Given the description of an element on the screen output the (x, y) to click on. 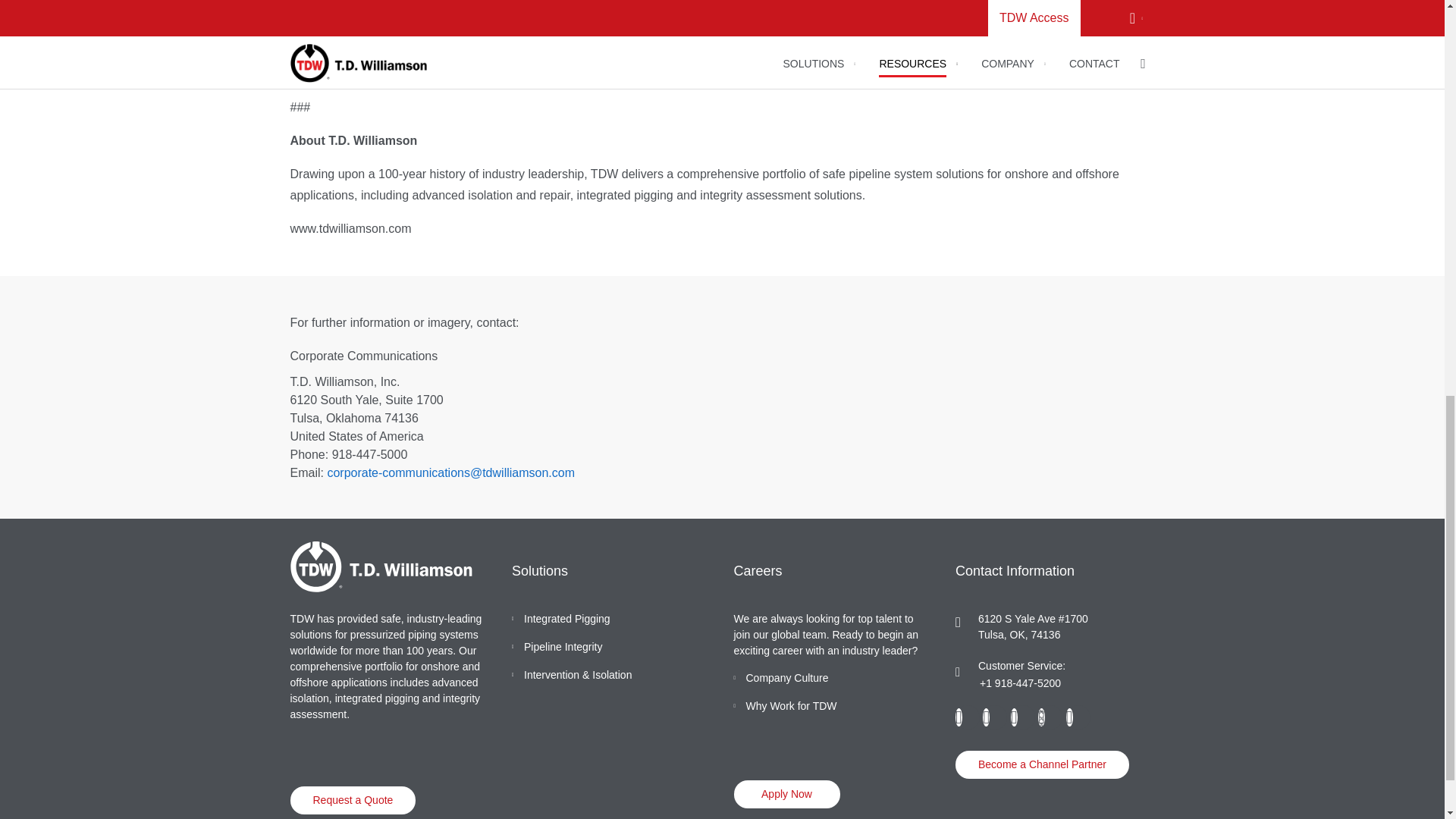
T.D. Williamson (380, 566)
